Given the description of an element on the screen output the (x, y) to click on. 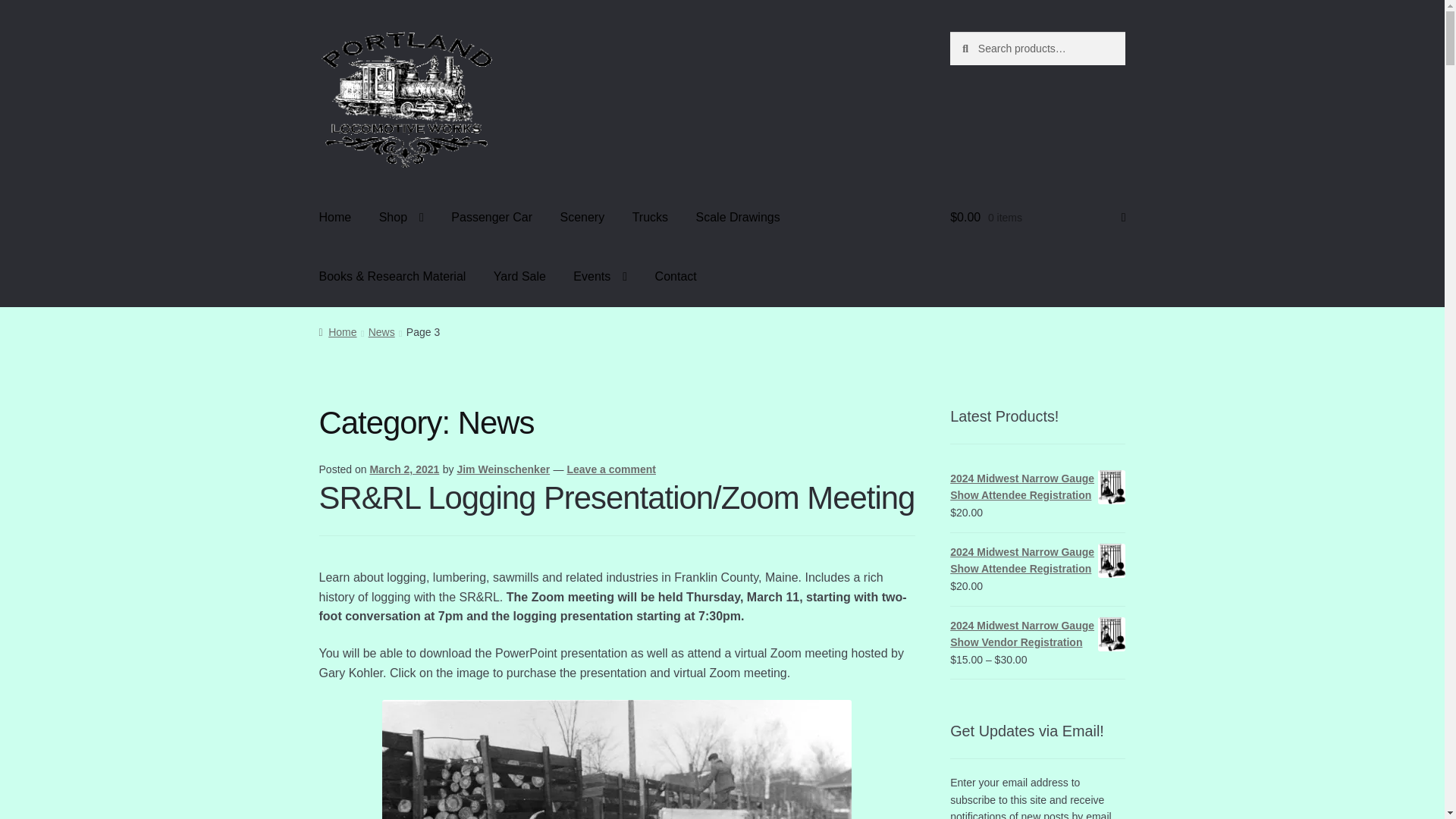
Passenger Car (491, 218)
Events (599, 276)
Home (335, 218)
News (381, 331)
Contact (676, 276)
Scenery (581, 218)
Yard Sale (519, 276)
Home (337, 331)
